Given the description of an element on the screen output the (x, y) to click on. 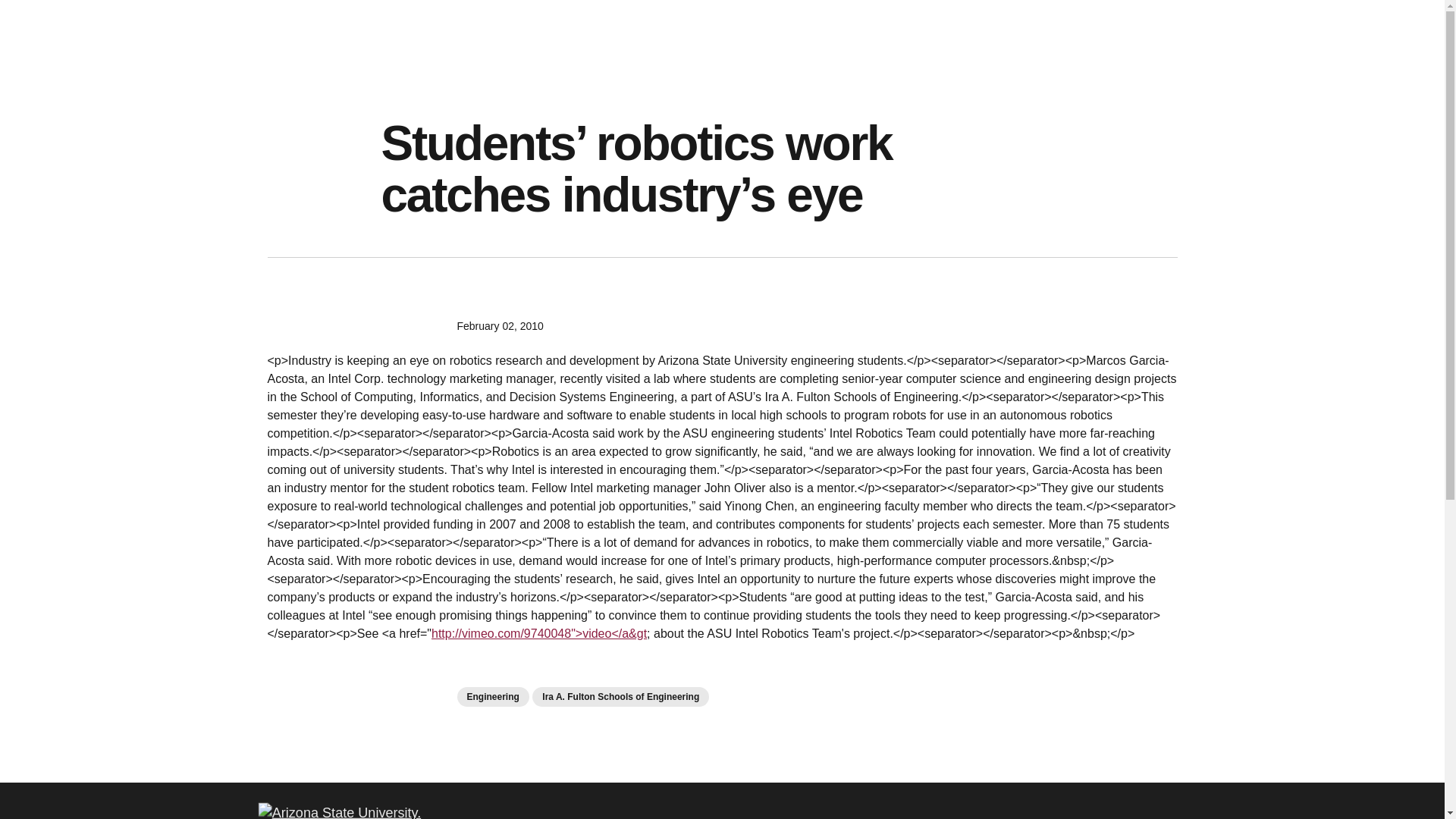
Ira A. Fulton Schools of Engineering (620, 696)
Engineering (492, 696)
